Given the description of an element on the screen output the (x, y) to click on. 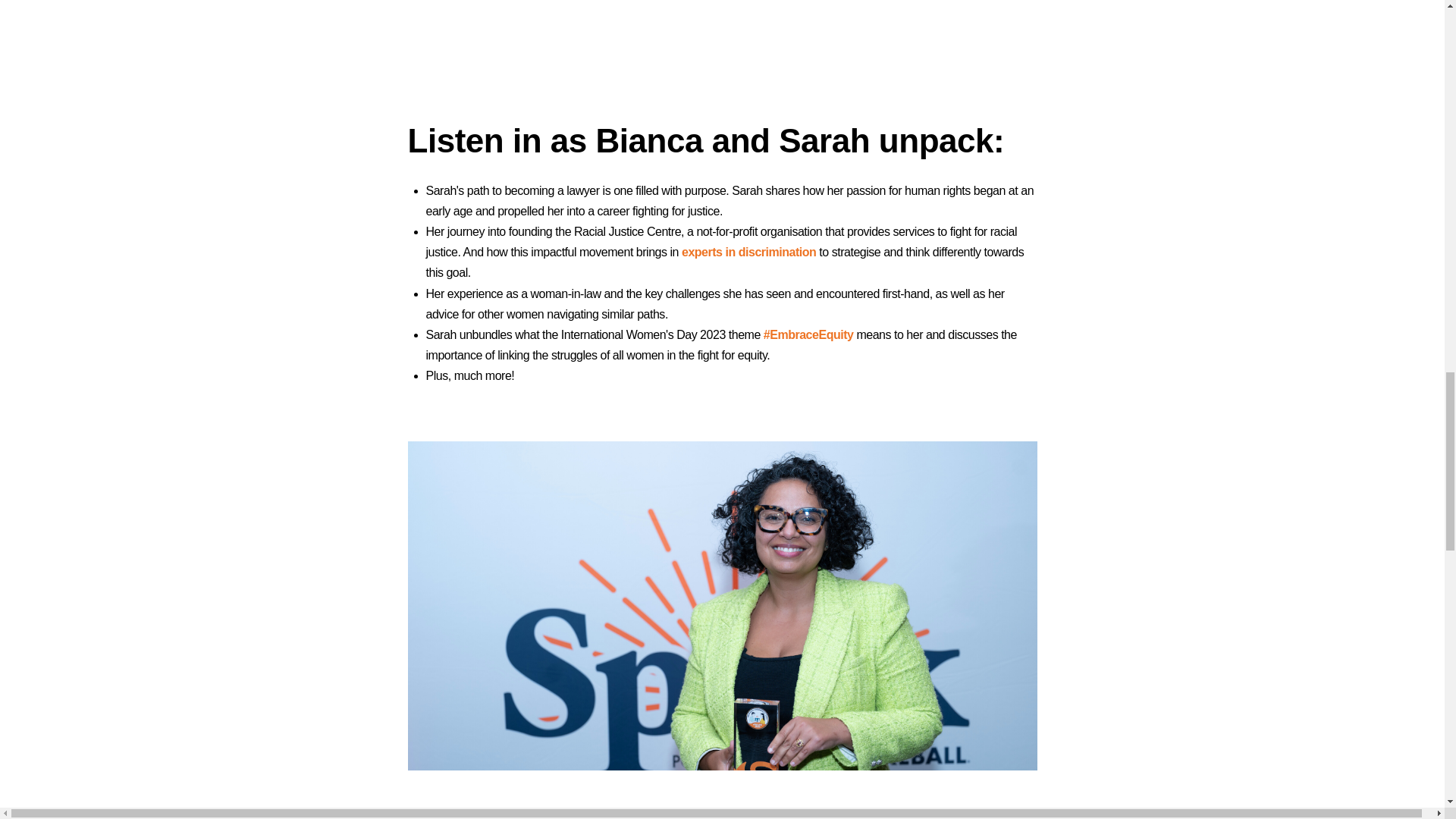
Women-in-law embracing equity - Sarah Ibrahim (721, 38)
